Given the description of an element on the screen output the (x, y) to click on. 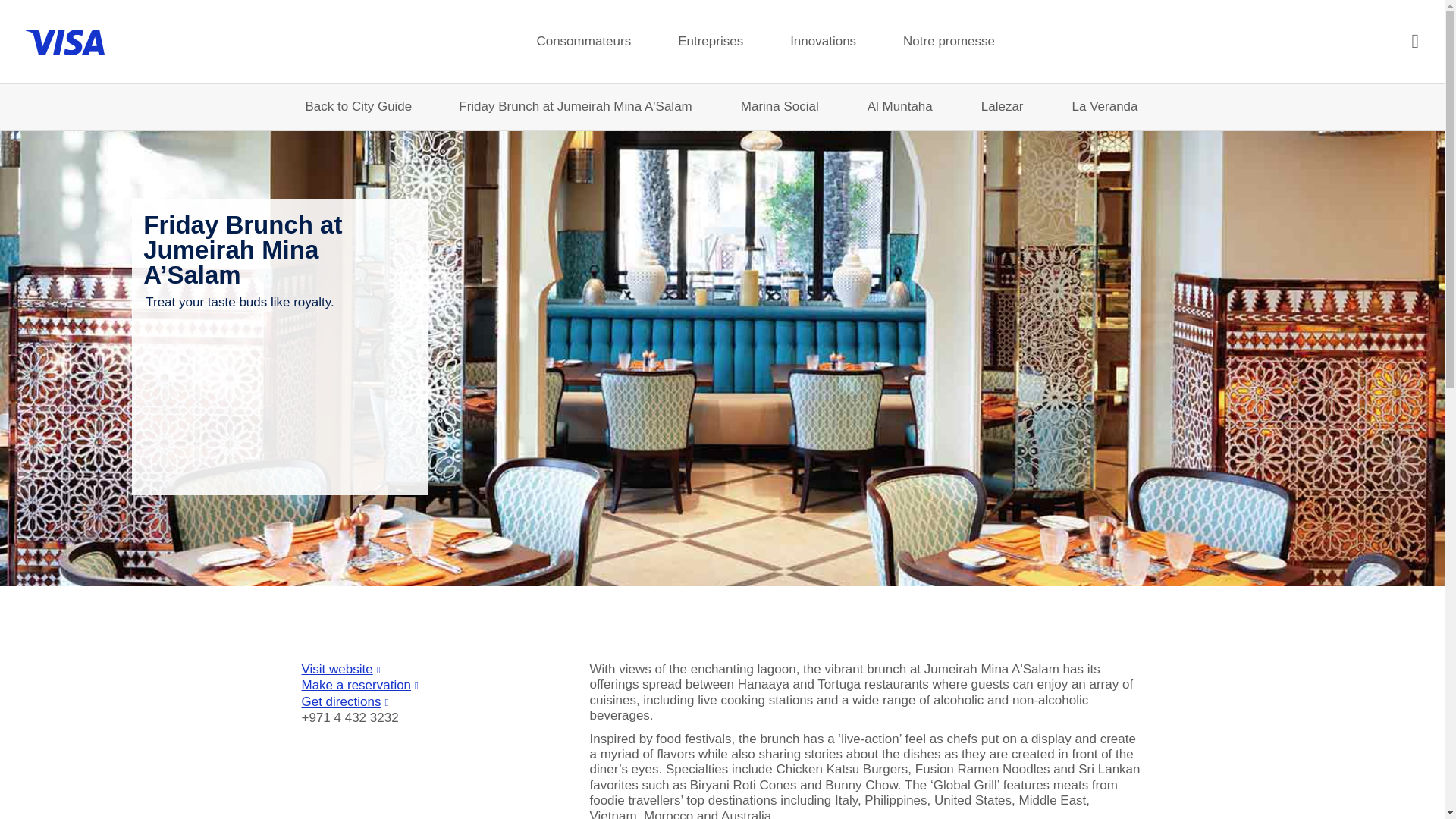
Notre promesse (948, 41)
Innovations (823, 41)
Entreprises (710, 41)
Consommateurs (583, 41)
